Given the description of an element on the screen output the (x, y) to click on. 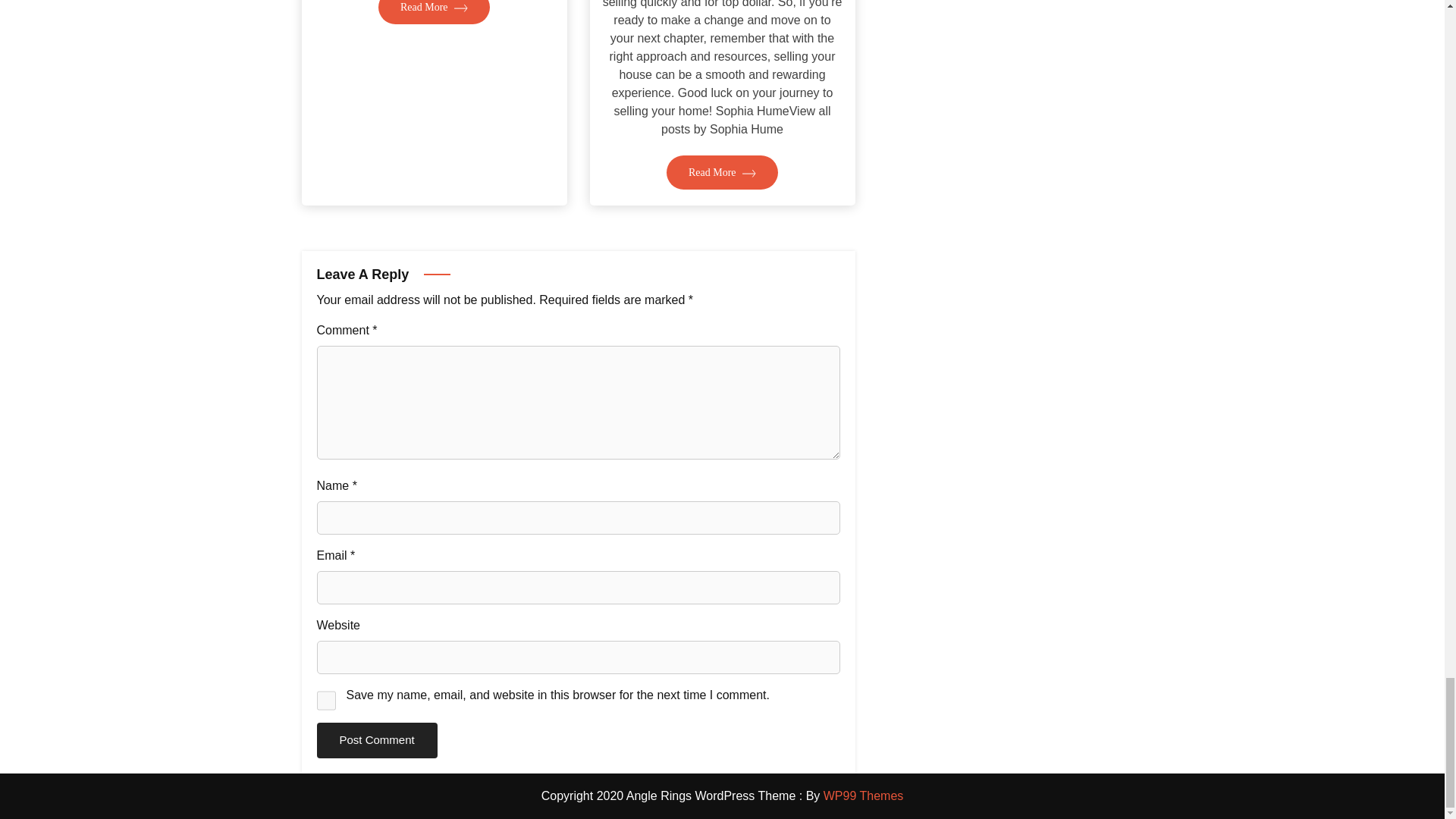
Read More (721, 226)
Read More (433, 61)
yes (326, 700)
Post Comment (377, 740)
